Given the description of an element on the screen output the (x, y) to click on. 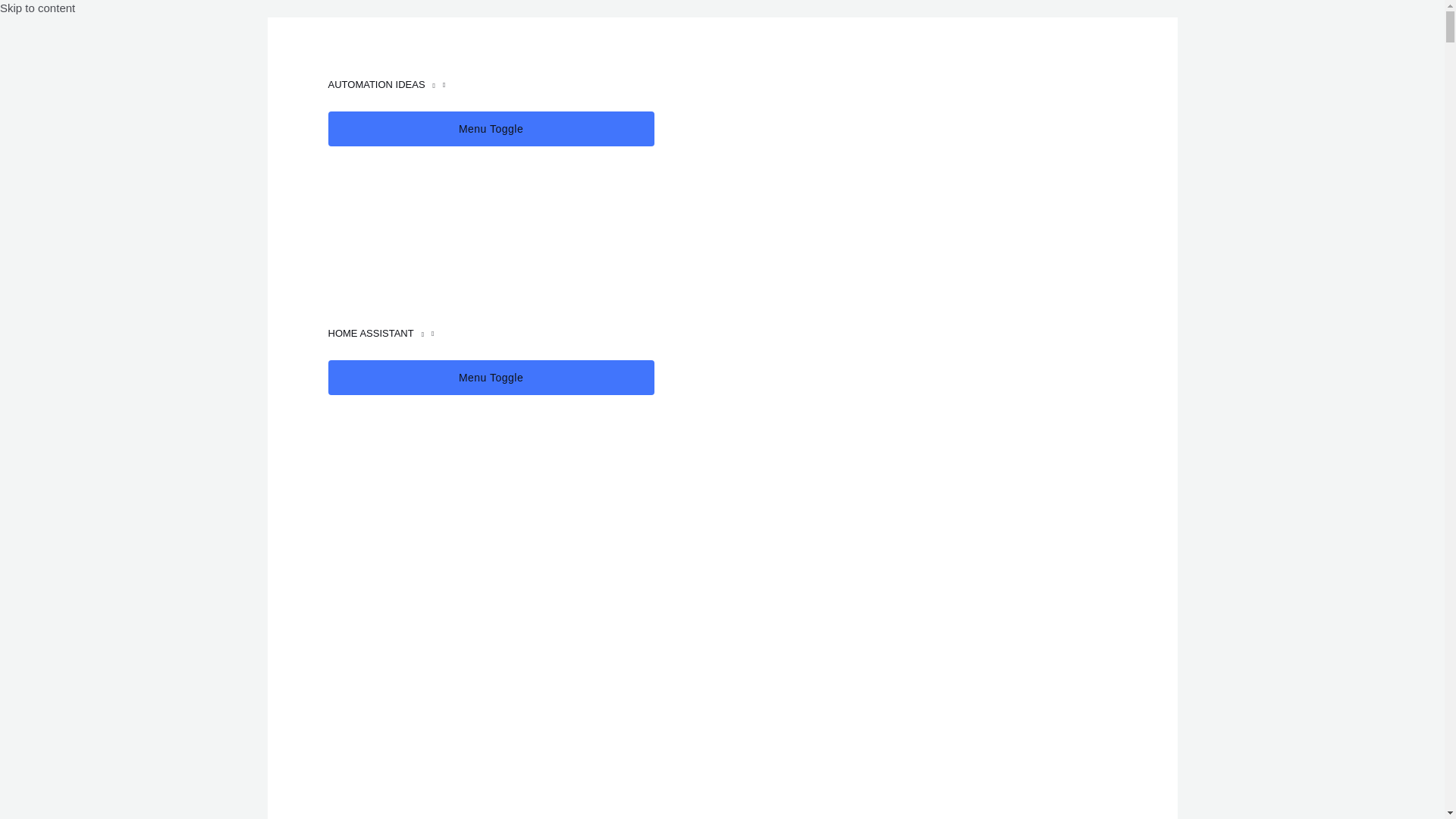
Menu Toggle (490, 377)
Skip to content (37, 7)
Skip to content (37, 7)
HOME ASSISTANT (490, 333)
ZIGBEE (490, 811)
AUTOMATION IDEAS (490, 84)
Menu Toggle (490, 128)
